Given the description of an element on the screen output the (x, y) to click on. 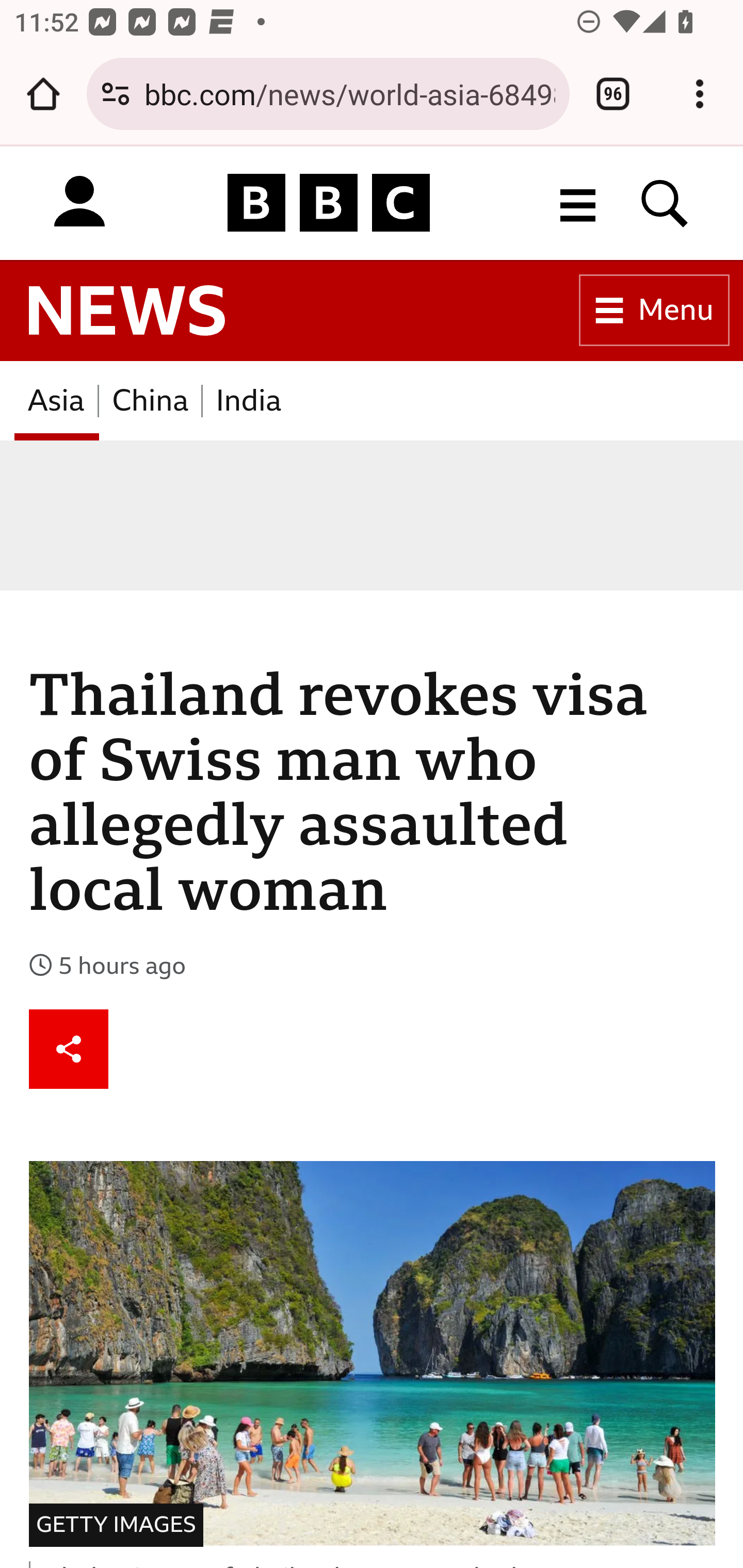
Open the home page (43, 93)
Connection is secure (115, 93)
Switch or close tabs (612, 93)
Customize and control Google Chrome (699, 93)
bbc.com/news/world-asia-68498257 (349, 92)
Sign in (79, 202)
BBC Homepage (329, 202)
More menu (578, 202)
Search BBC (665, 202)
BBC News (126, 311)
Menu (654, 310)
Asia (56, 400)
China (150, 400)
India (249, 400)
Share (68, 1047)
